Given the description of an element on the screen output the (x, y) to click on. 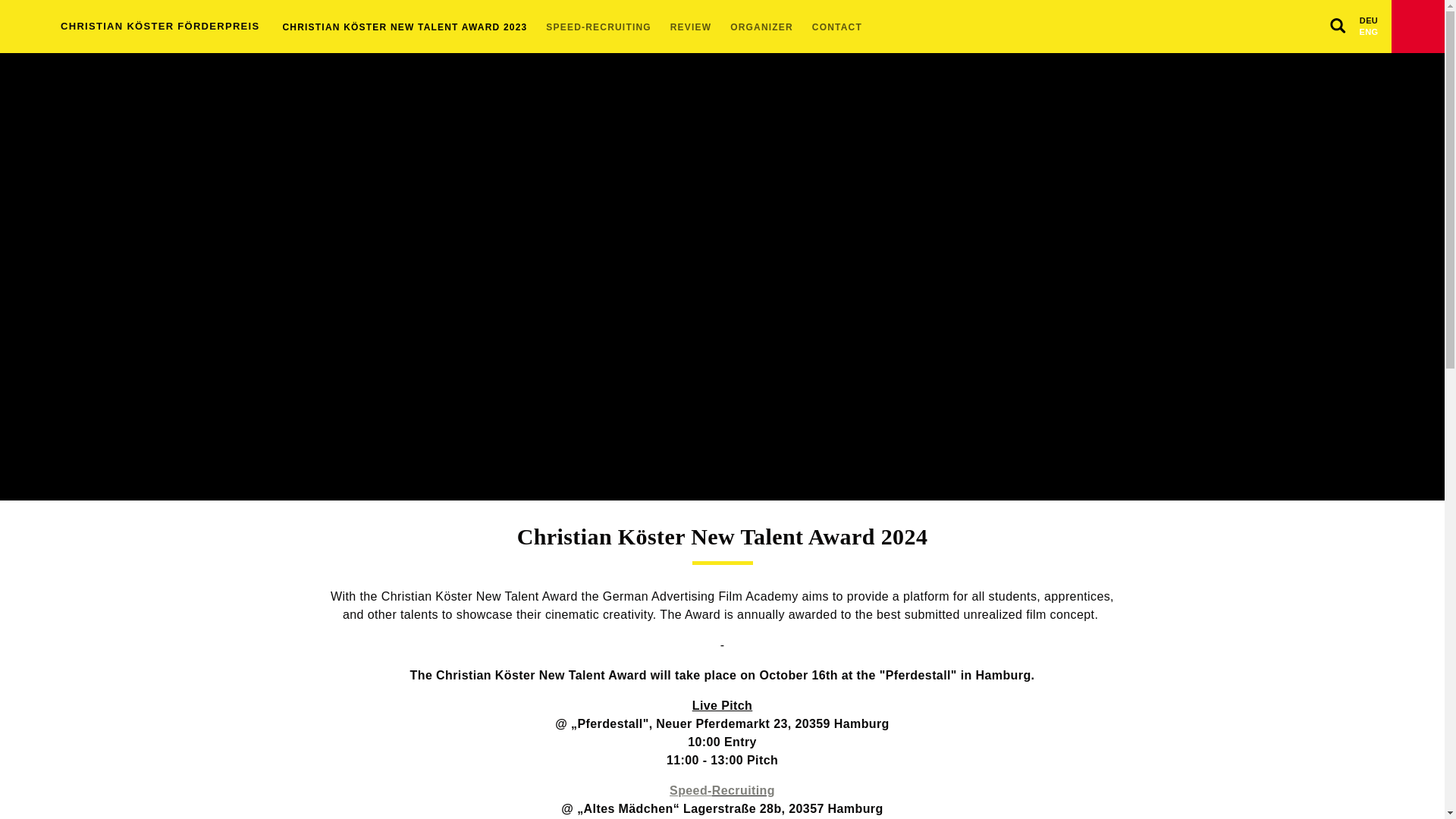
ENG (1368, 39)
English (1368, 39)
DEU (1368, 13)
ORGANIZER (768, 27)
SPEED-RECRUITING (606, 27)
Speed- (690, 789)
CONTACT (845, 27)
Recruiting (742, 789)
REVIEW (698, 27)
Deutsch (1368, 13)
